Given the description of an element on the screen output the (x, y) to click on. 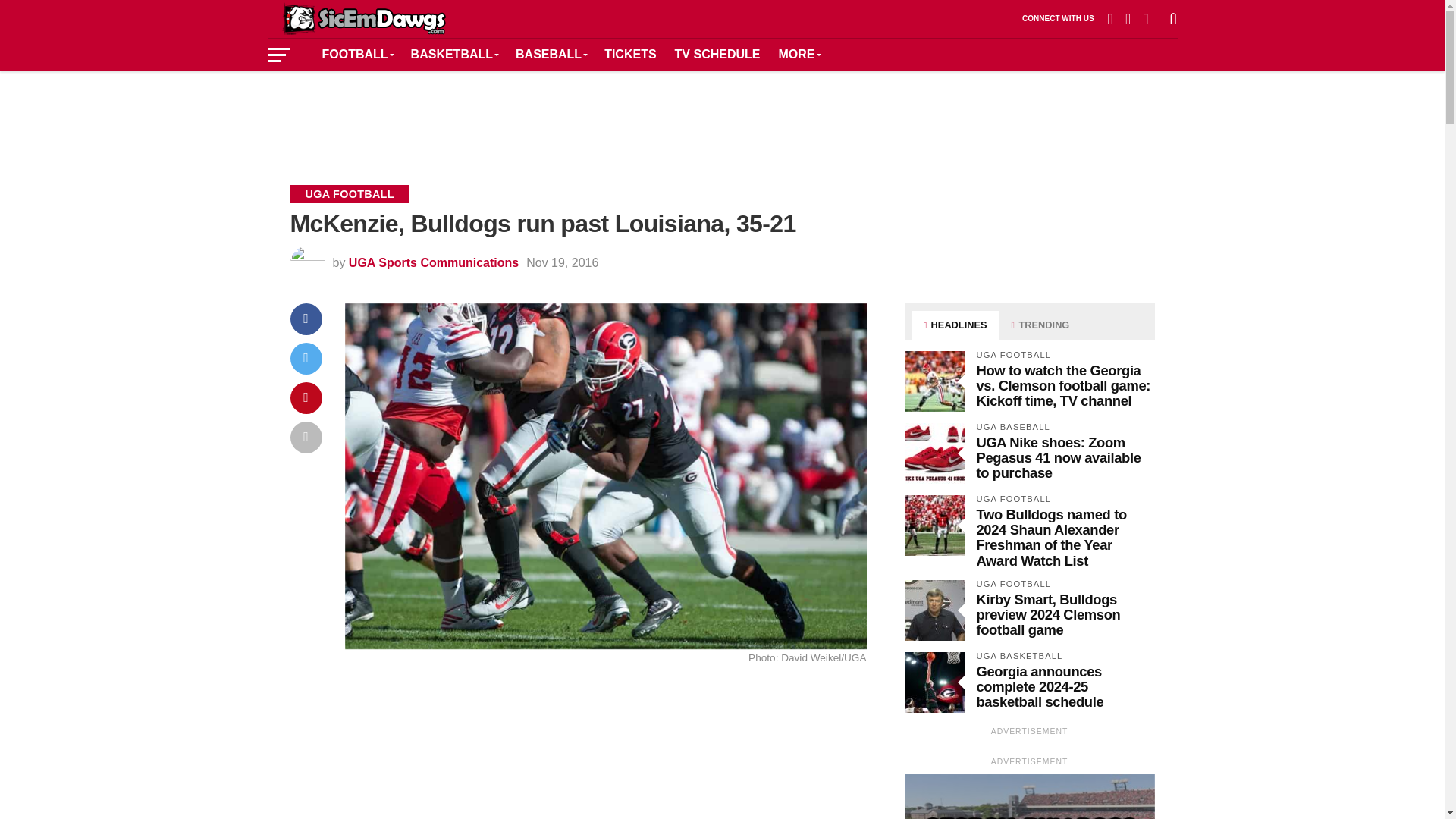
Advertisement (721, 116)
Advertisement (604, 749)
Posts by UGA Sports Communications (433, 262)
